Given the description of an element on the screen output the (x, y) to click on. 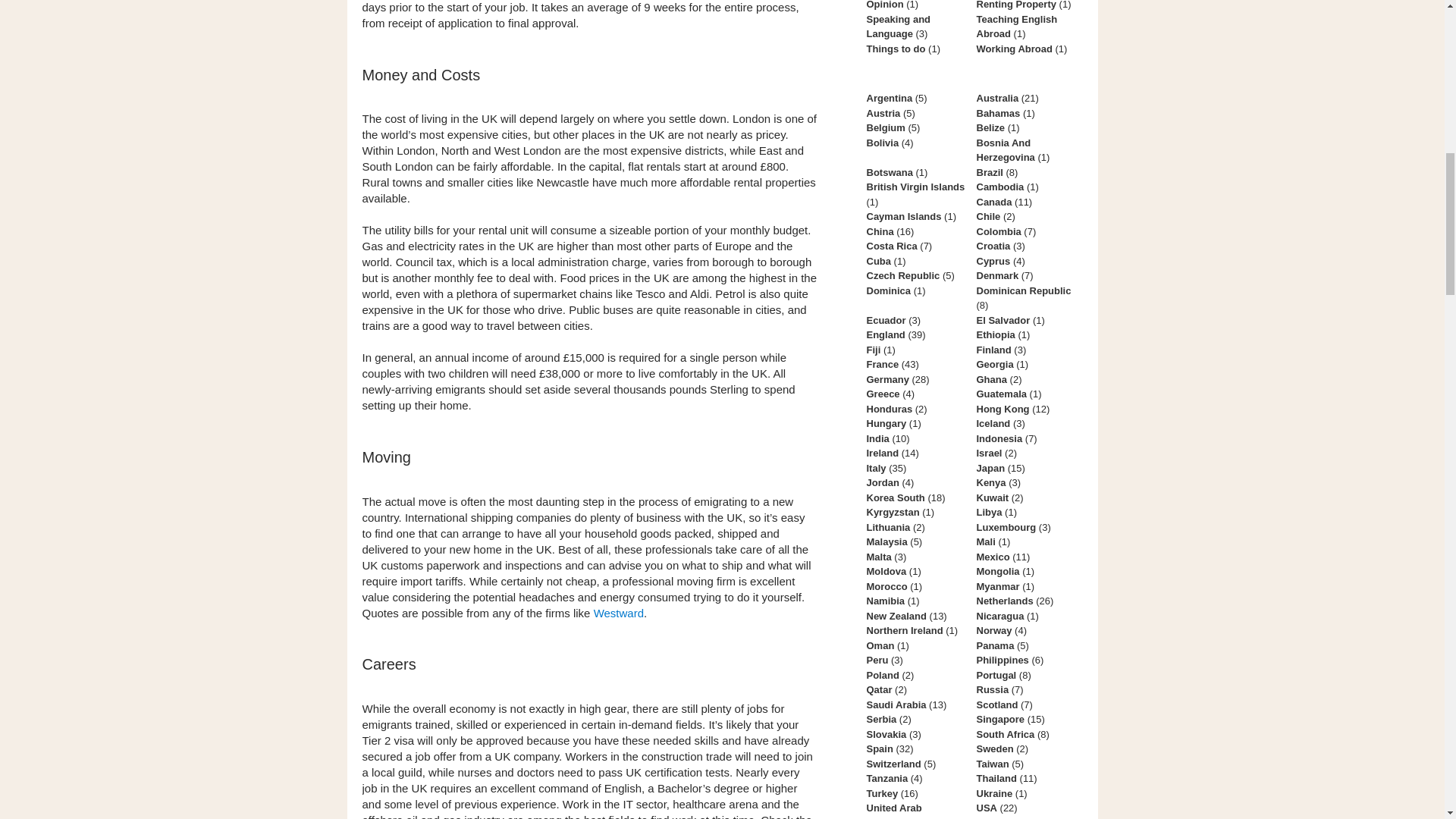
Westward (618, 612)
